Given the description of an element on the screen output the (x, y) to click on. 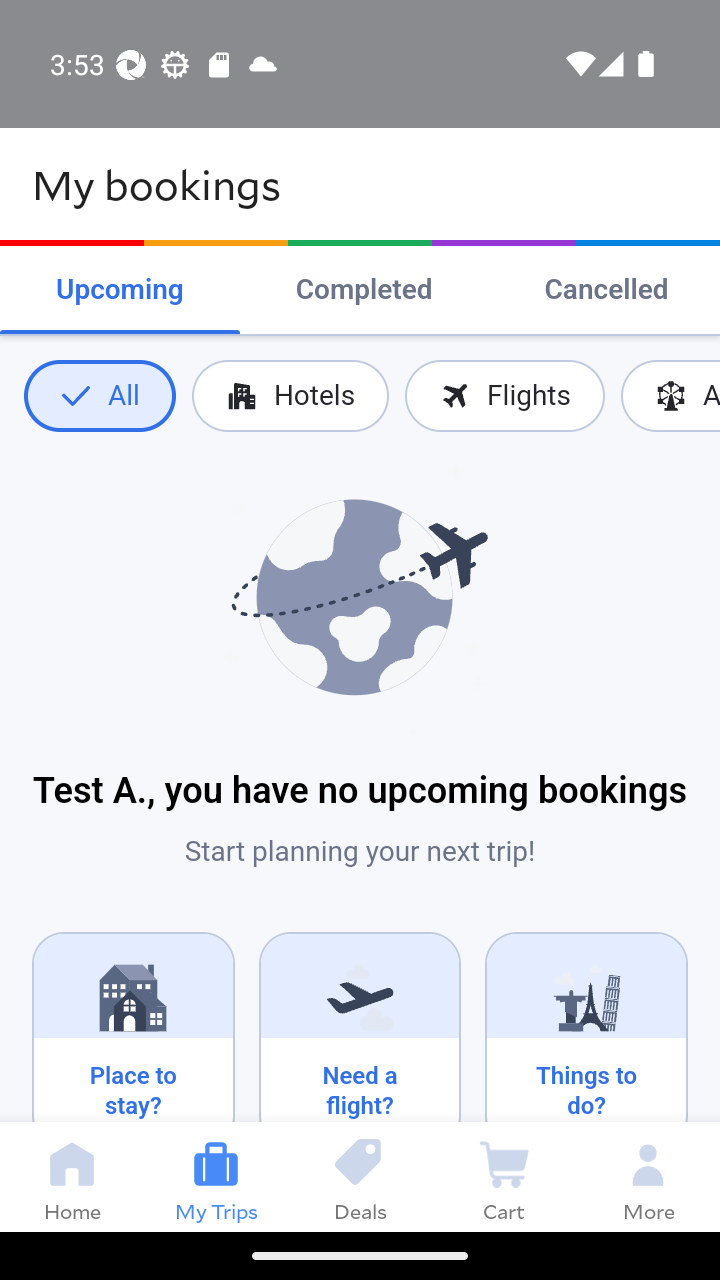
Upcoming (119, 289)
Completed (363, 289)
Cancelled (606, 289)
All (99, 395)
Hotels (290, 395)
Flights (504, 395)
Activities (669, 395)
Home (72, 1176)
My Trips (216, 1176)
Deals (360, 1176)
Cart (504, 1176)
More (648, 1176)
